Given the description of an element on the screen output the (x, y) to click on. 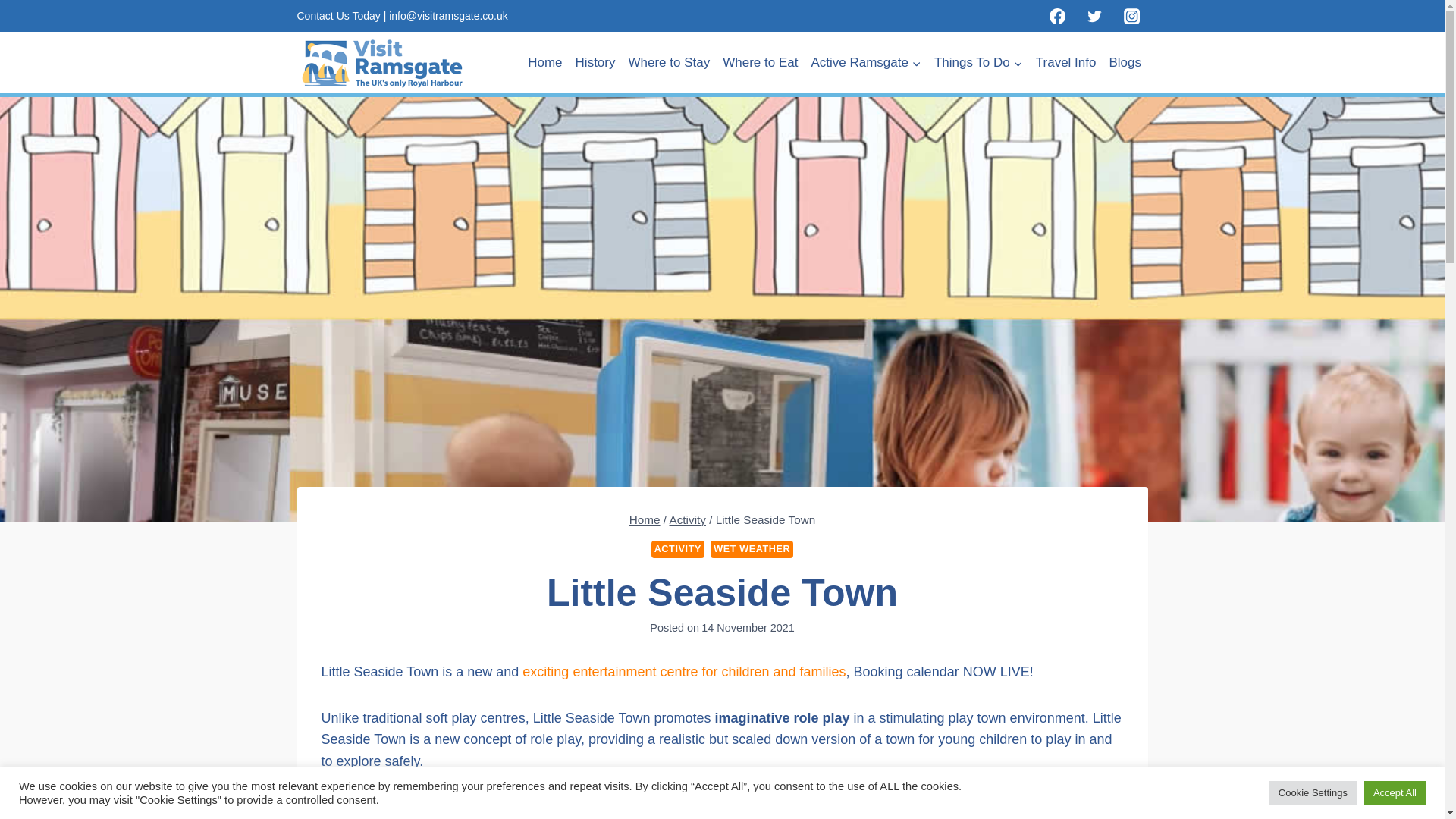
Blogs (1125, 61)
Things To Do (978, 61)
Travel Info (1065, 61)
Where to Eat (760, 61)
Active Ramsgate (866, 61)
History (595, 61)
Where to Stay (668, 61)
Home (545, 61)
